Given the description of an element on the screen output the (x, y) to click on. 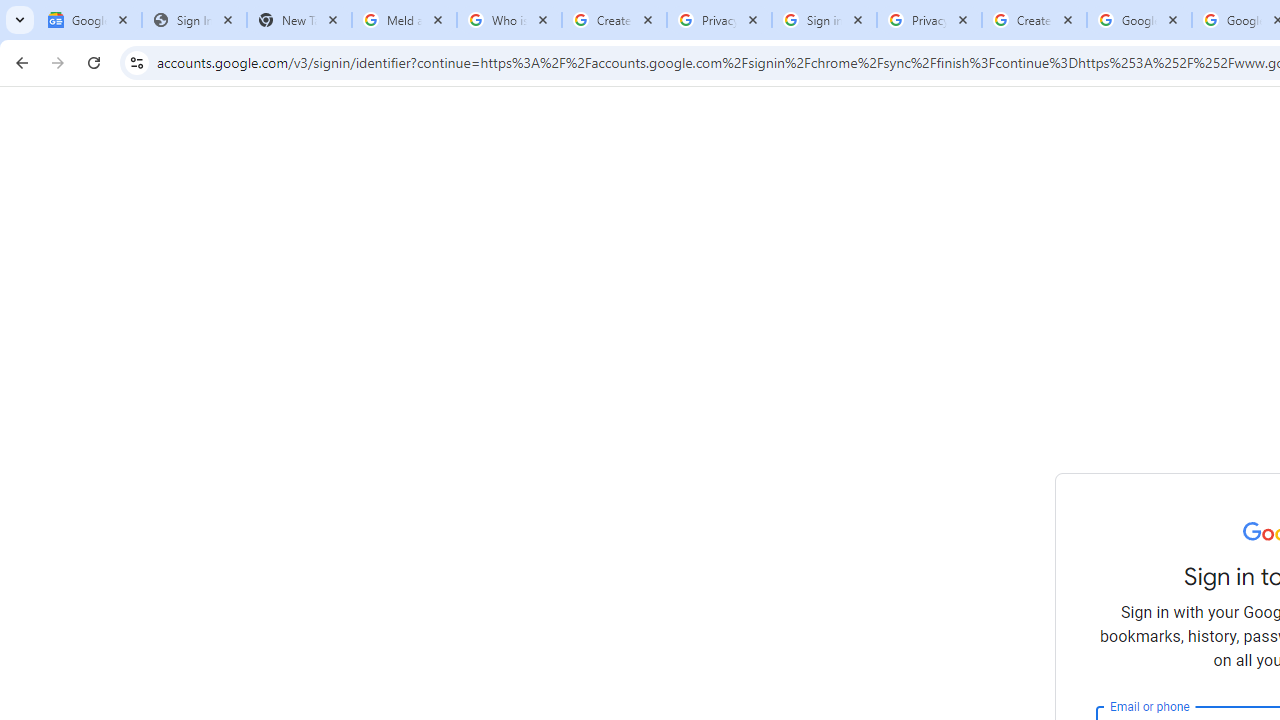
Sign in - Google Accounts (823, 20)
Create your Google Account (1033, 20)
Who is my administrator? - Google Account Help (509, 20)
Sign In - USA TODAY (194, 20)
New Tab (299, 20)
Create your Google Account (613, 20)
